Given the description of an element on the screen output the (x, y) to click on. 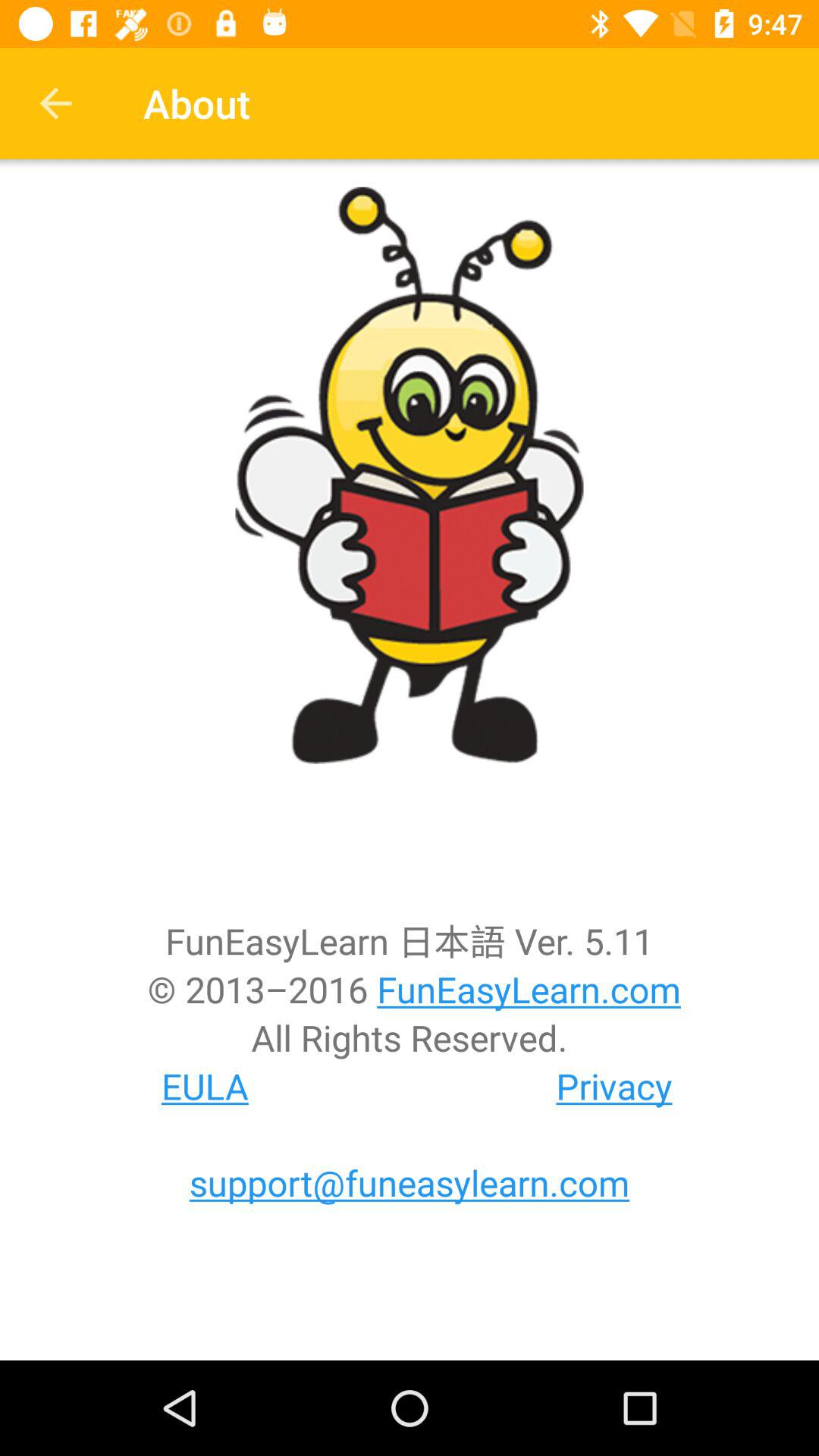
press item to the left of the about (55, 103)
